Given the description of an element on the screen output the (x, y) to click on. 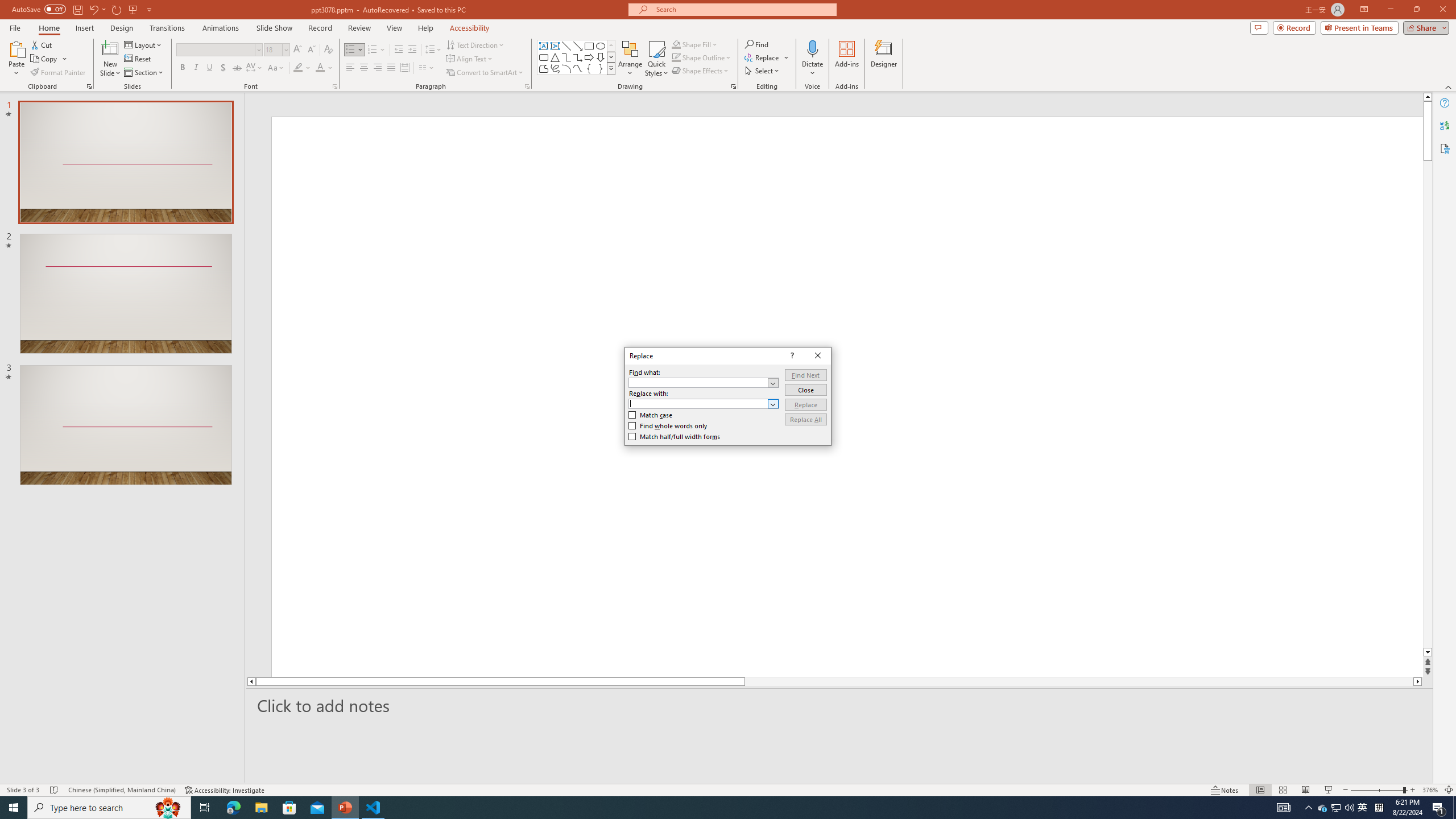
Curve (577, 68)
Context help (791, 355)
Task View (204, 807)
User Promoted Notification Area (1336, 807)
Line (566, 45)
Notes  (1225, 790)
Font (215, 49)
Spell Check No Errors (54, 790)
Notification Chevron (1308, 807)
Slide Notes (839, 705)
Open (772, 403)
Rectangle (589, 45)
